Given the description of an element on the screen output the (x, y) to click on. 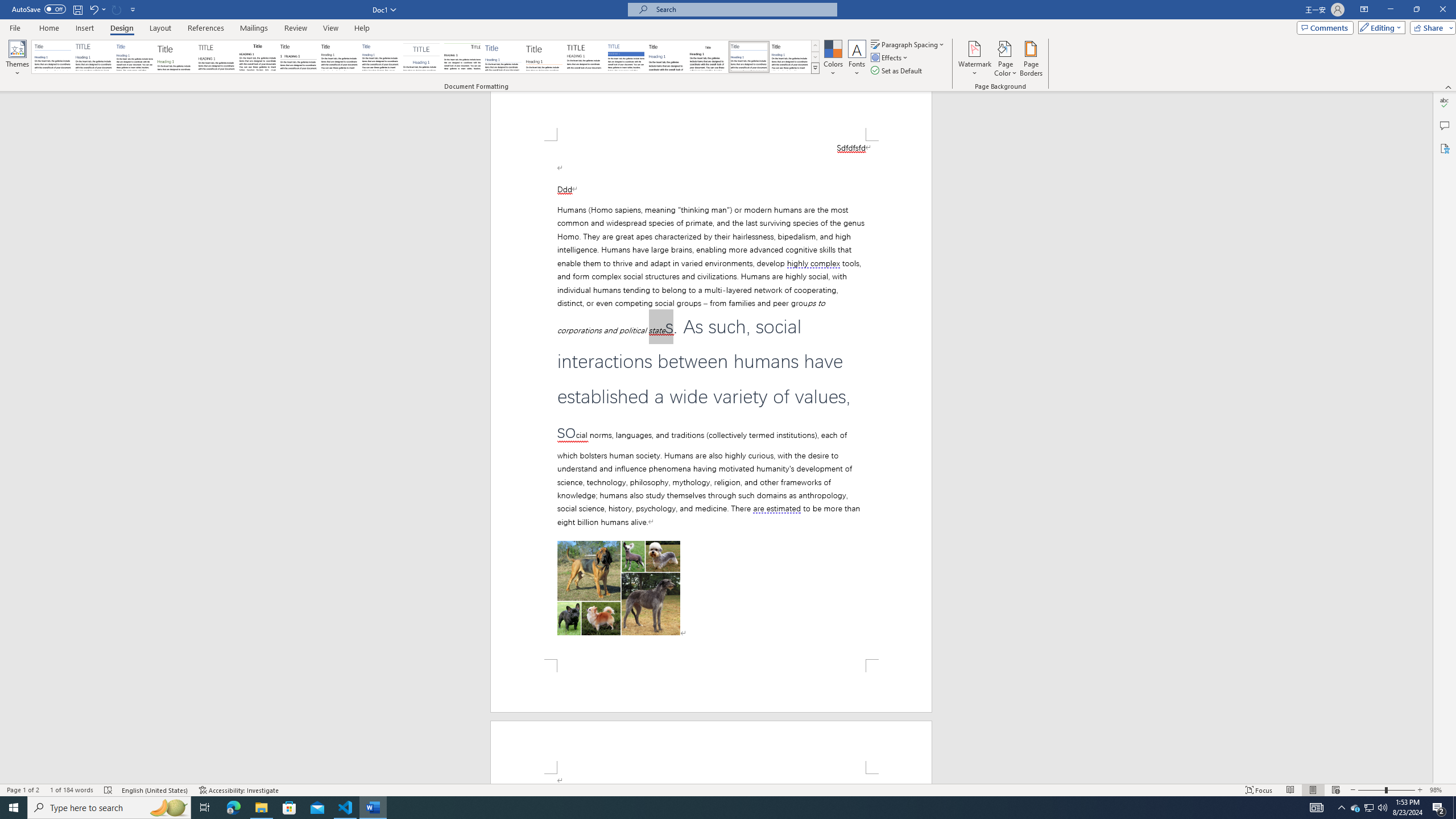
Centered (421, 56)
Can't Repeat (117, 9)
Editing (1379, 27)
Watermark (974, 58)
Lines (Stylish) (544, 56)
Effects (890, 56)
Casual (379, 56)
Themes (17, 58)
Shaded (625, 56)
